Given the description of an element on the screen output the (x, y) to click on. 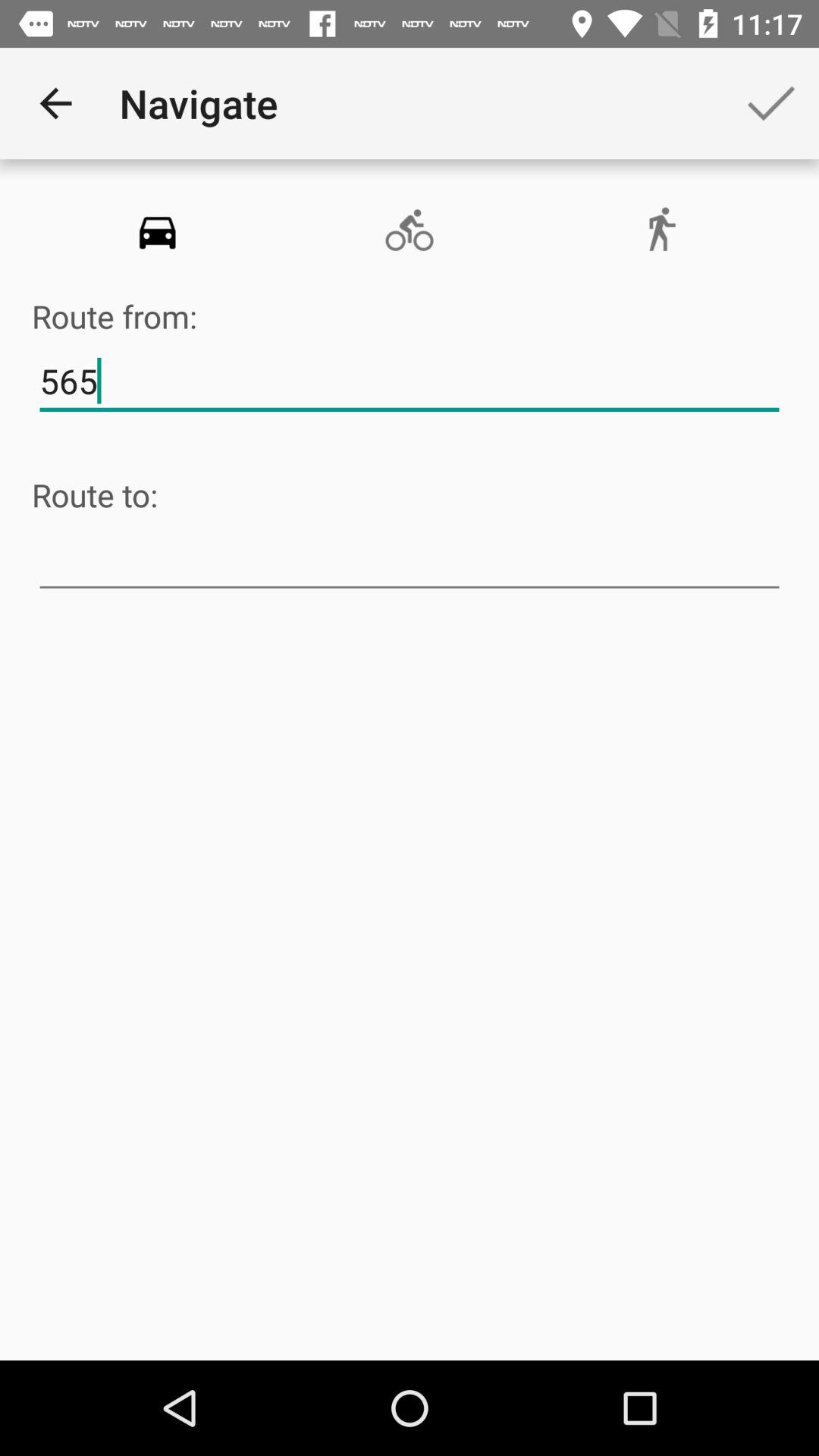
tap the item above 565 item (661, 230)
